Given the description of an element on the screen output the (x, y) to click on. 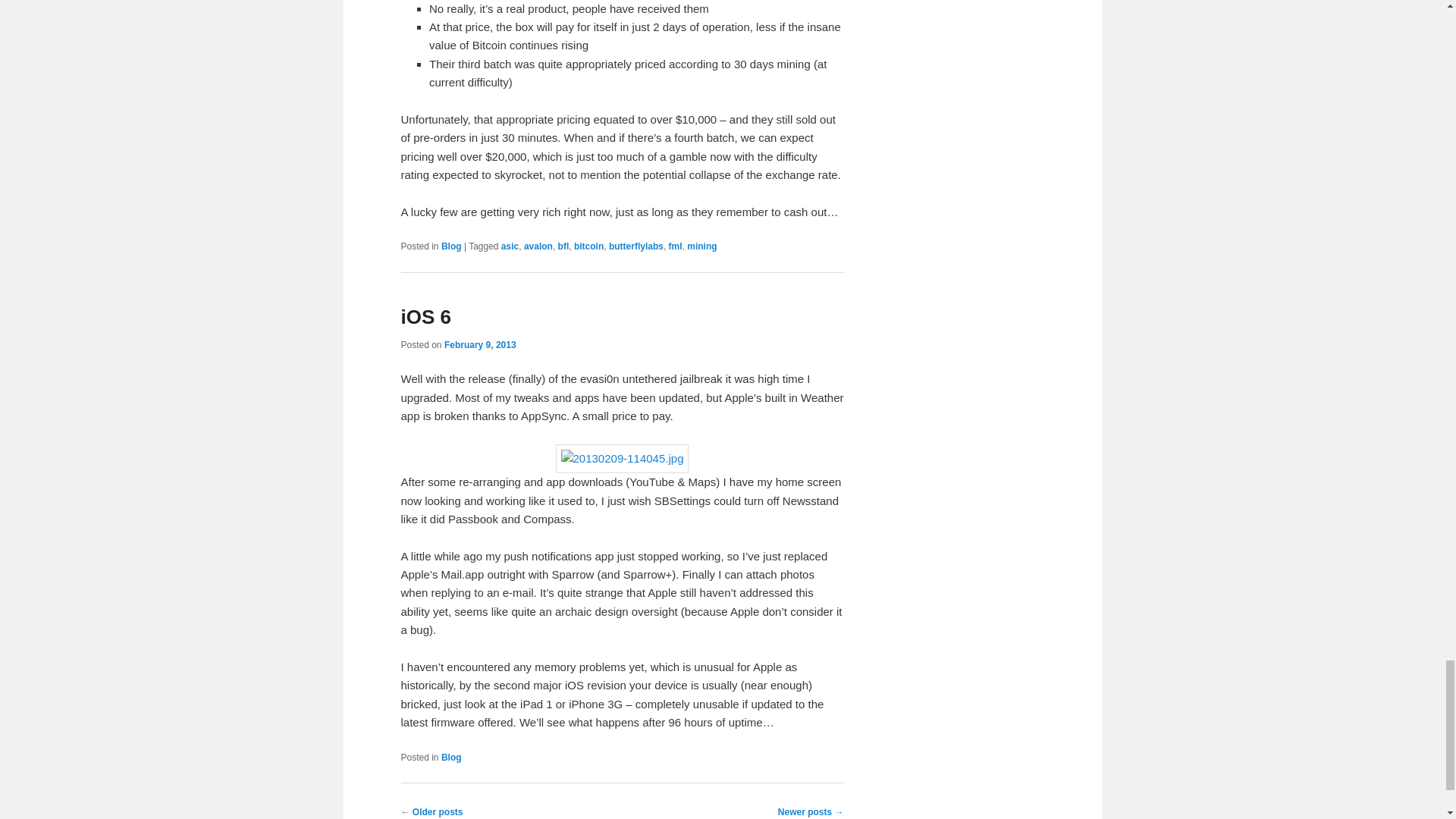
10:51 am (480, 344)
